Given the description of an element on the screen output the (x, y) to click on. 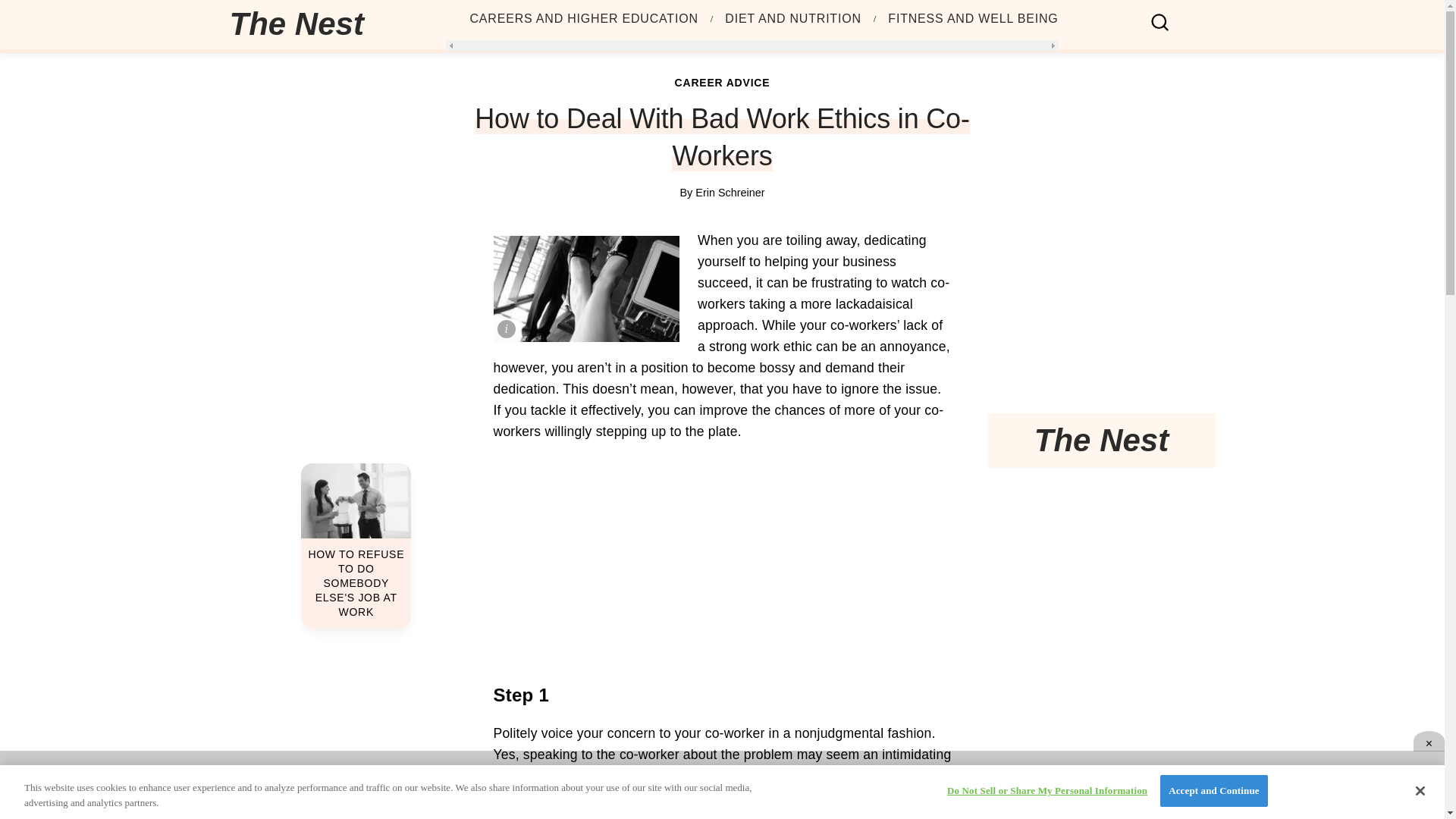
The Nest (301, 23)
FITNESS AND WELL BEING (973, 19)
Do Not Sell or Share My Personal Information (1047, 790)
3rd party ad content (1100, 312)
Accept and Continue (1213, 790)
HOW TO REFUSE TO DO SOMEBODY ELSE'S JOB AT WORK (355, 545)
DIET AND NUTRITION (792, 19)
CAREER ADVICE (722, 82)
3rd party ad content (1100, 568)
The Nest (295, 23)
3rd party ad content (721, 561)
3rd party ad content (721, 785)
CAREERS AND HIGHER EDUCATION (584, 19)
